Given the description of an element on the screen output the (x, y) to click on. 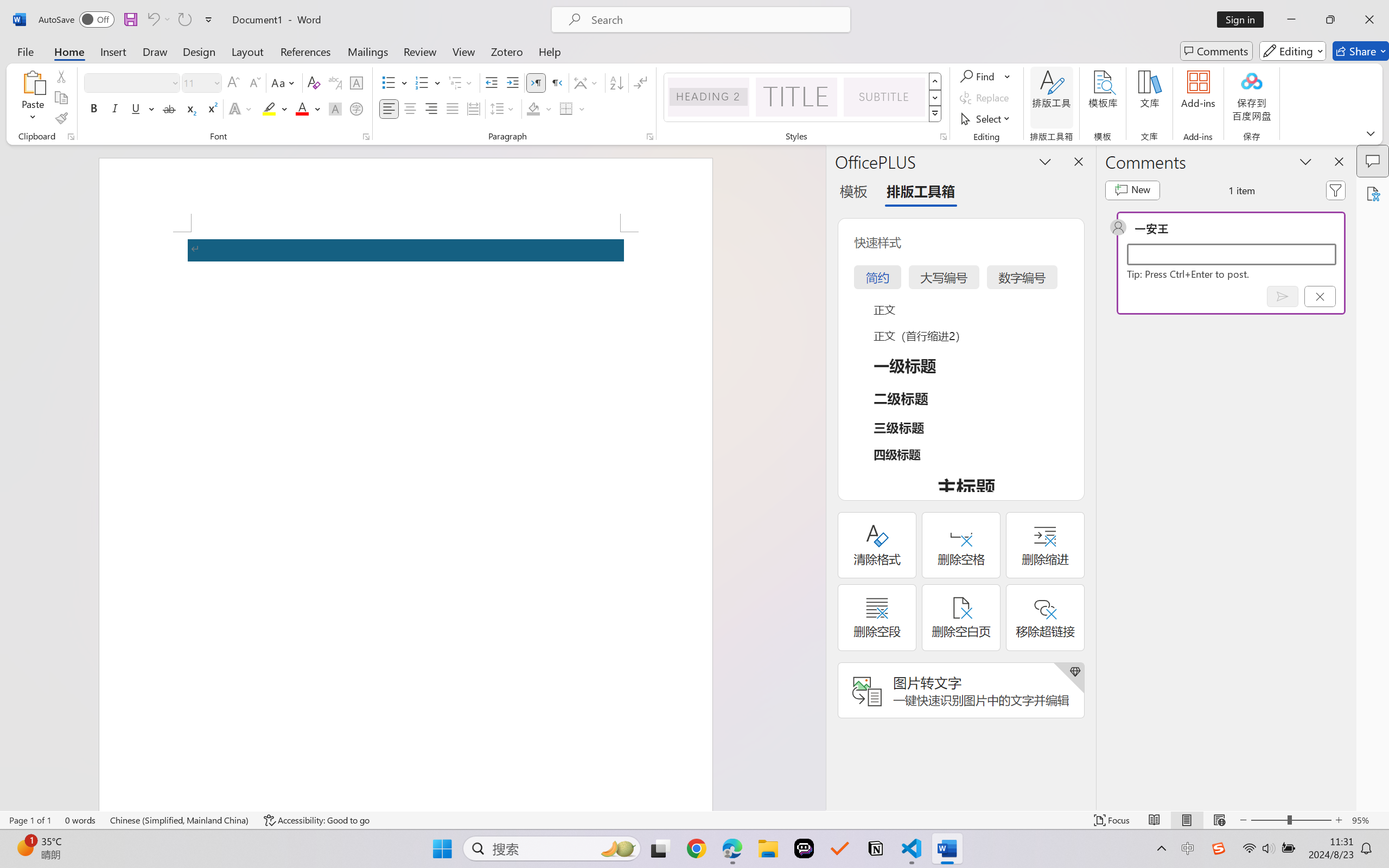
New comment (1132, 190)
Sign in (1244, 19)
